Given the description of an element on the screen output the (x, y) to click on. 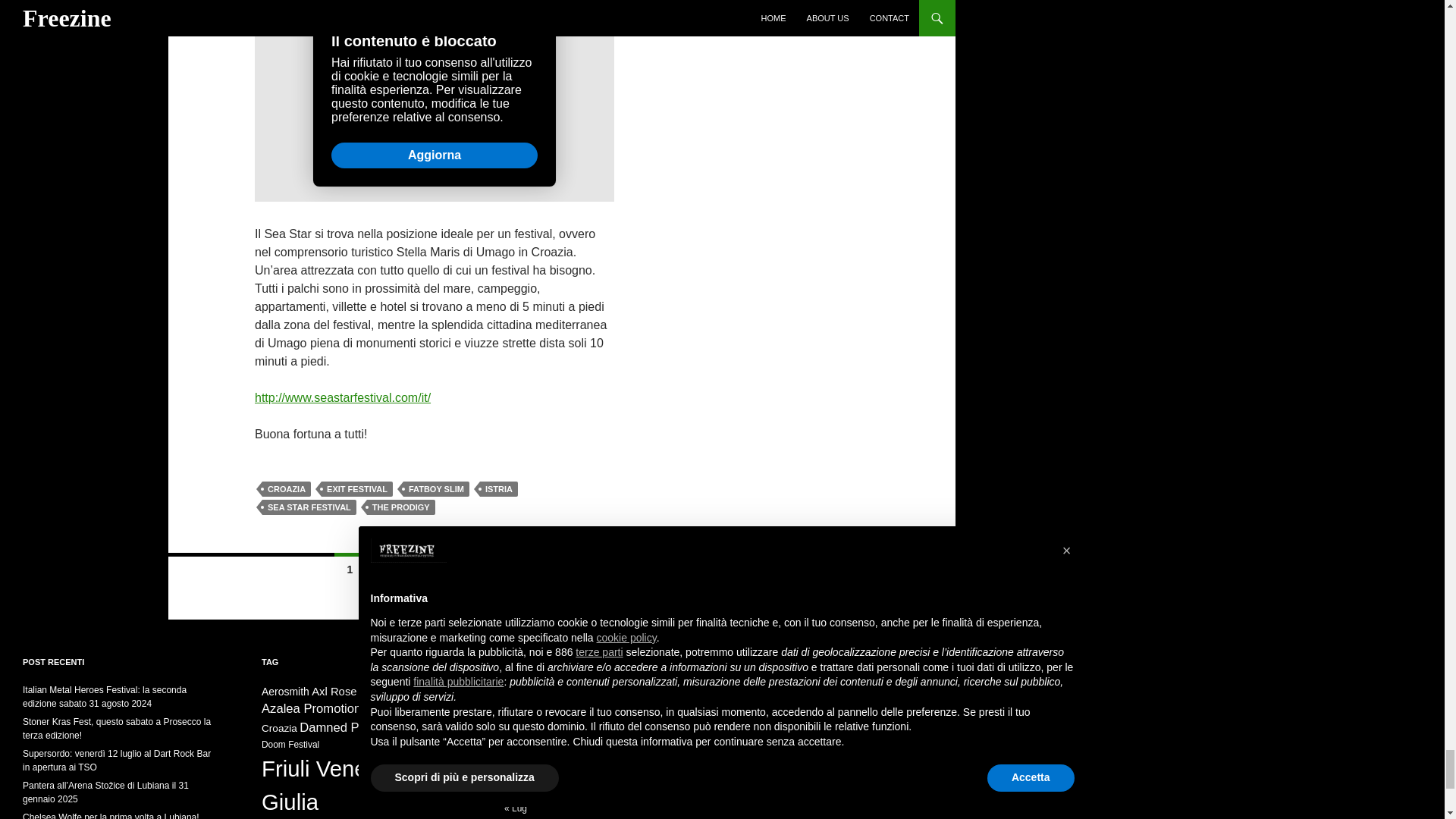
Sea Star Festival's amazing Adriatic Coast location! (434, 100)
domenica (680, 694)
sabato (652, 694)
